Given the description of an element on the screen output the (x, y) to click on. 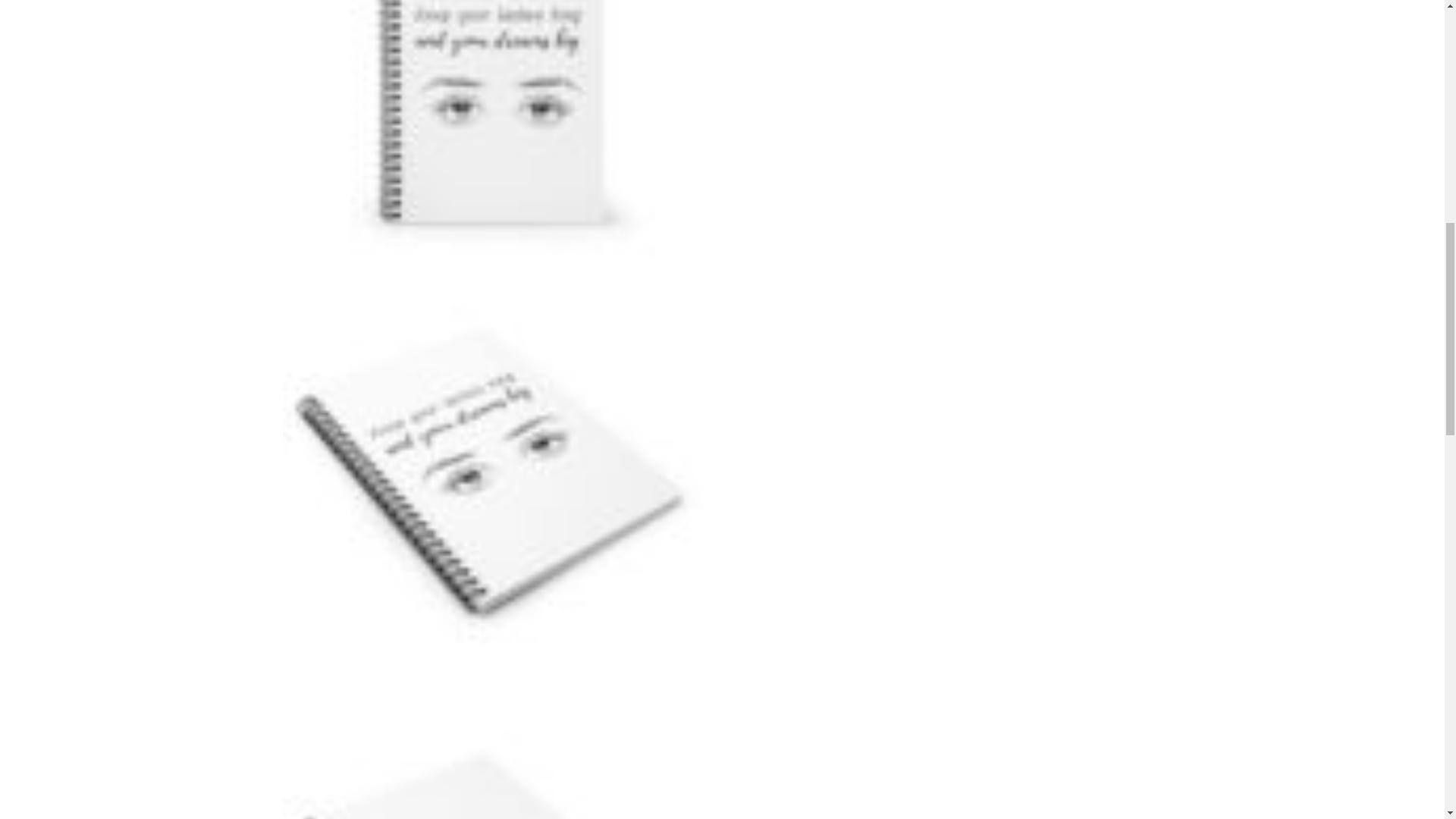
34240-3.jpg (493, 756)
34240-1.jpg (493, 135)
